Given the description of an element on the screen output the (x, y) to click on. 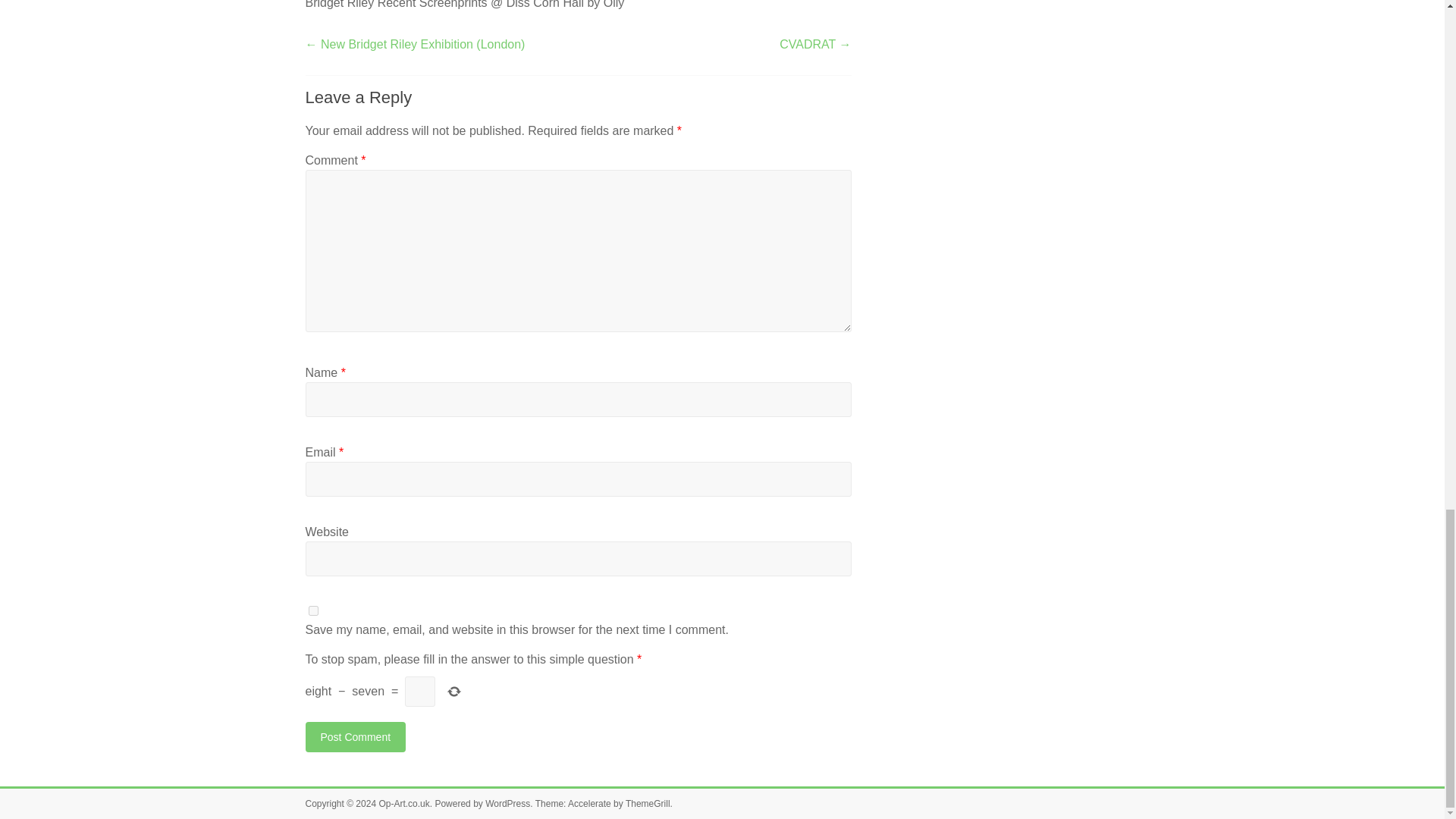
Post Comment (355, 736)
yes (312, 610)
Post Comment (355, 736)
